Given the description of an element on the screen output the (x, y) to click on. 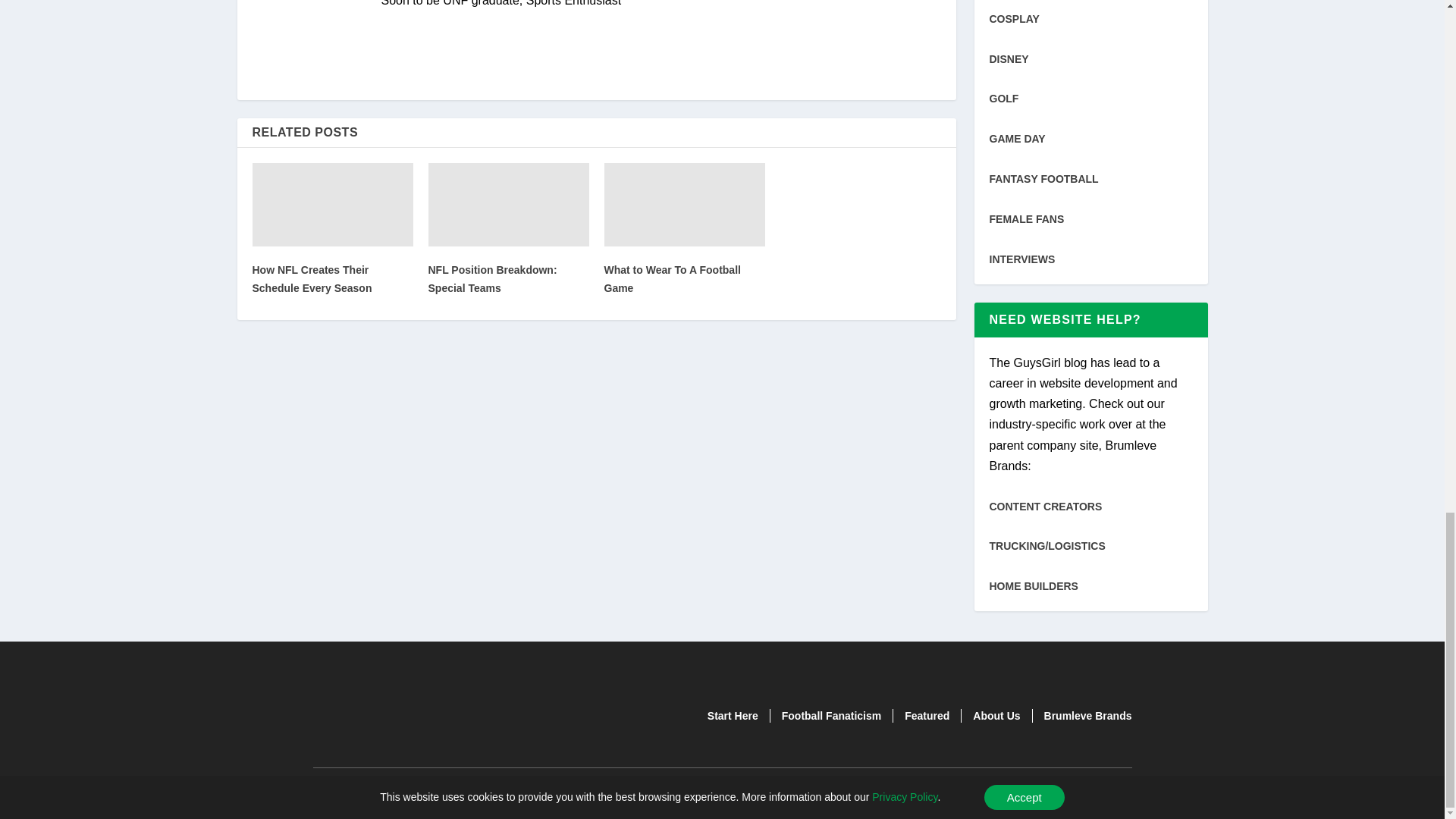
NFL Position Breakdown: Special Teams (492, 278)
How NFL Creates Their Schedule Every Season (331, 204)
NFL Position Breakdown: Special Teams (508, 204)
What to Wear To A Football Game (684, 204)
How NFL Creates Their Schedule Every Season (311, 278)
What to Wear To A Football Game (671, 278)
